Given the description of an element on the screen output the (x, y) to click on. 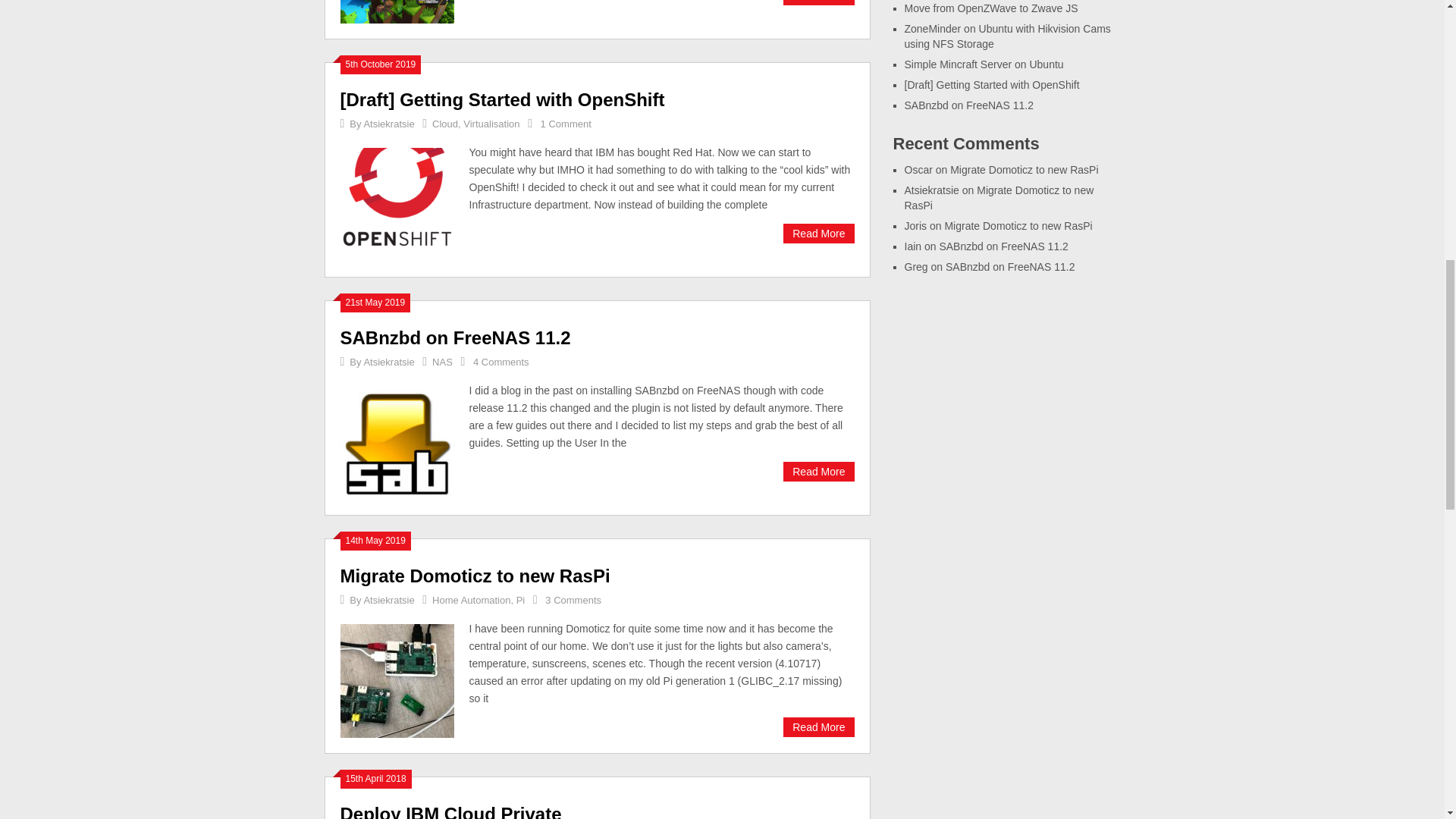
Virtualisation (491, 123)
Posts by Atsiekratsie (387, 123)
Cloud (445, 123)
Read More (818, 2)
Simple Mincraft Server on Ubuntu (395, 11)
Atsiekratsie (387, 123)
Simple Mincraft Server on Ubuntu (818, 2)
1 Comment (565, 123)
